Given the description of an element on the screen output the (x, y) to click on. 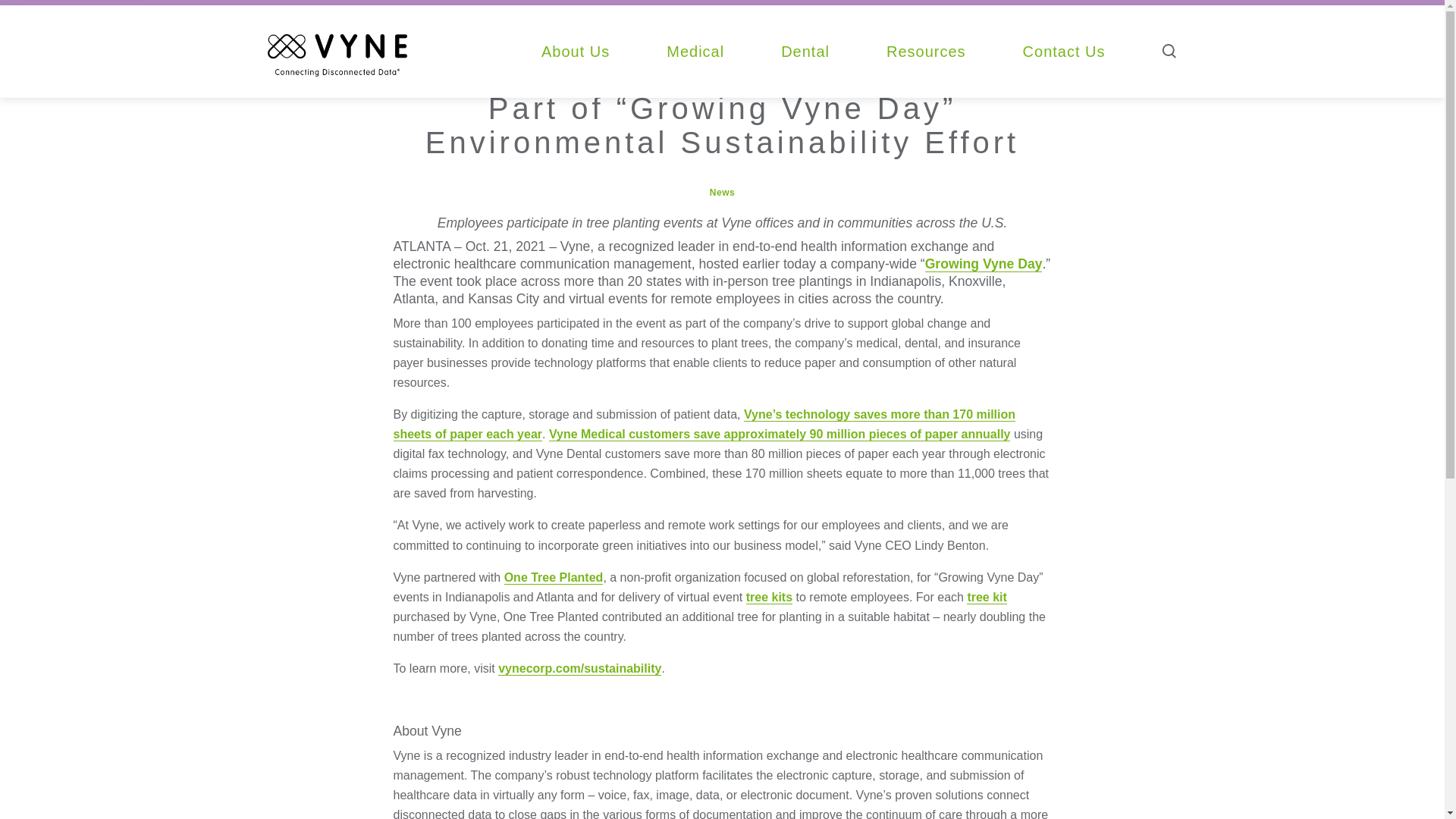
Medical (694, 50)
News (722, 192)
One Tree Planted (553, 577)
Resources (926, 50)
About Us (575, 50)
Growing Vyne Day (983, 263)
Dental (804, 50)
tree kit (986, 597)
Contact Us (1064, 50)
tree kits (768, 597)
